Given the description of an element on the screen output the (x, y) to click on. 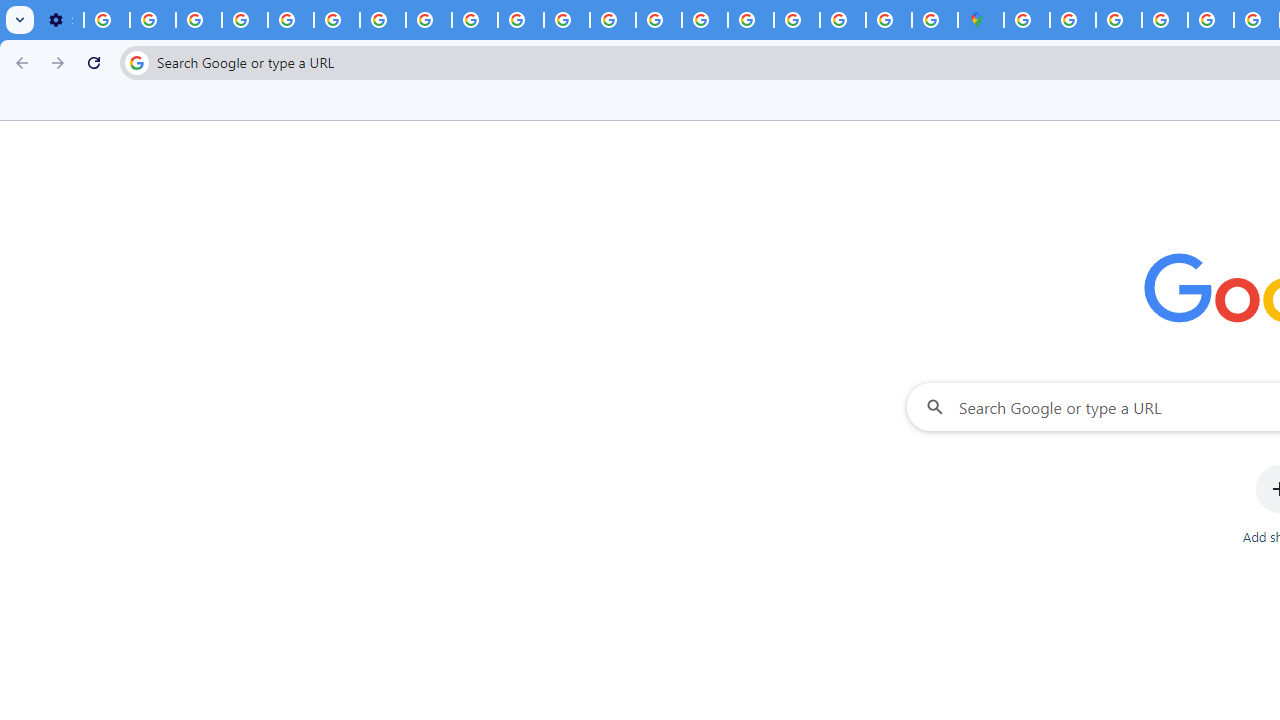
Settings - Customize profile (60, 20)
